Given the description of an element on the screen output the (x, y) to click on. 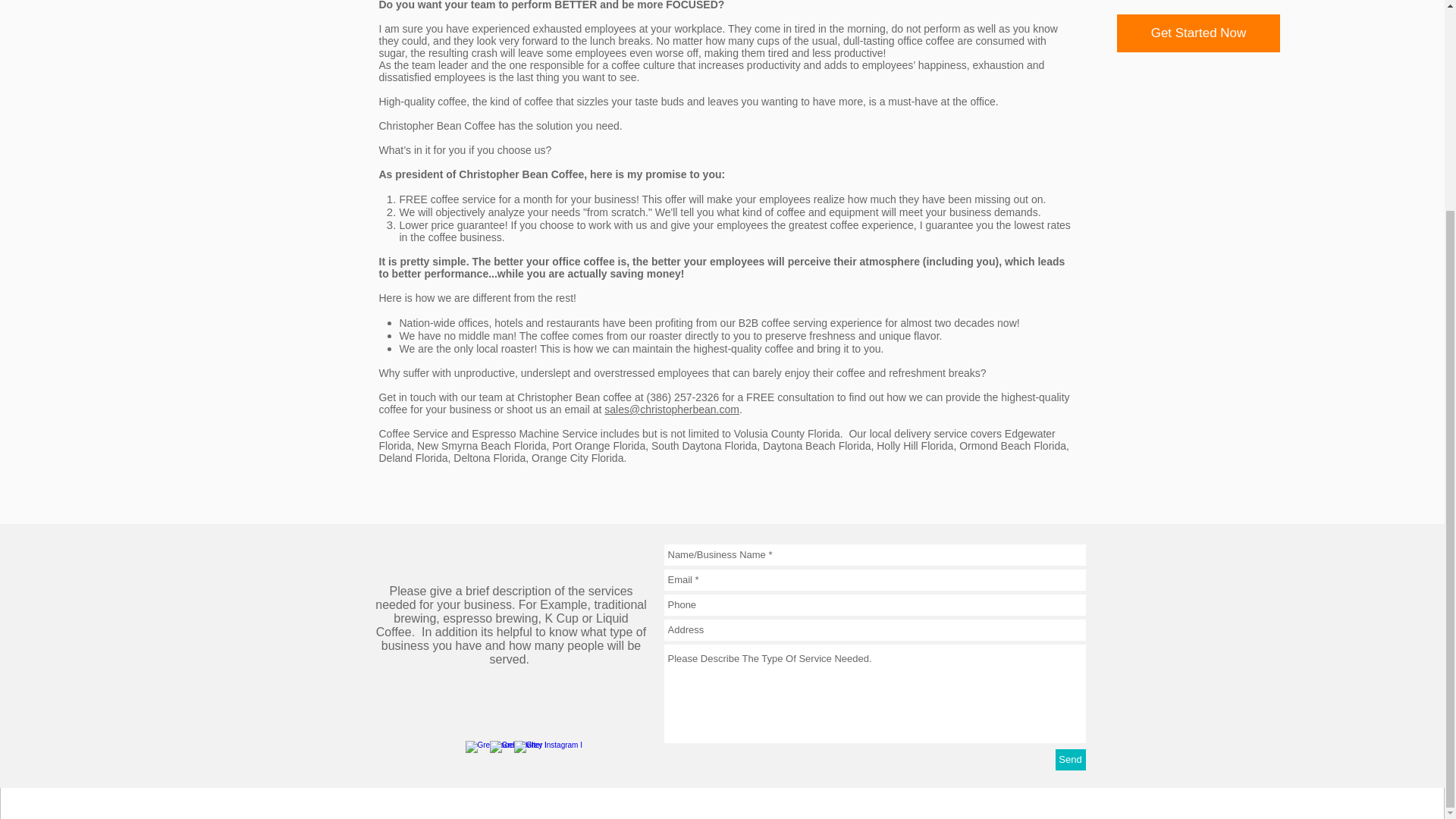
Send (1070, 759)
